Given the description of an element on the screen output the (x, y) to click on. 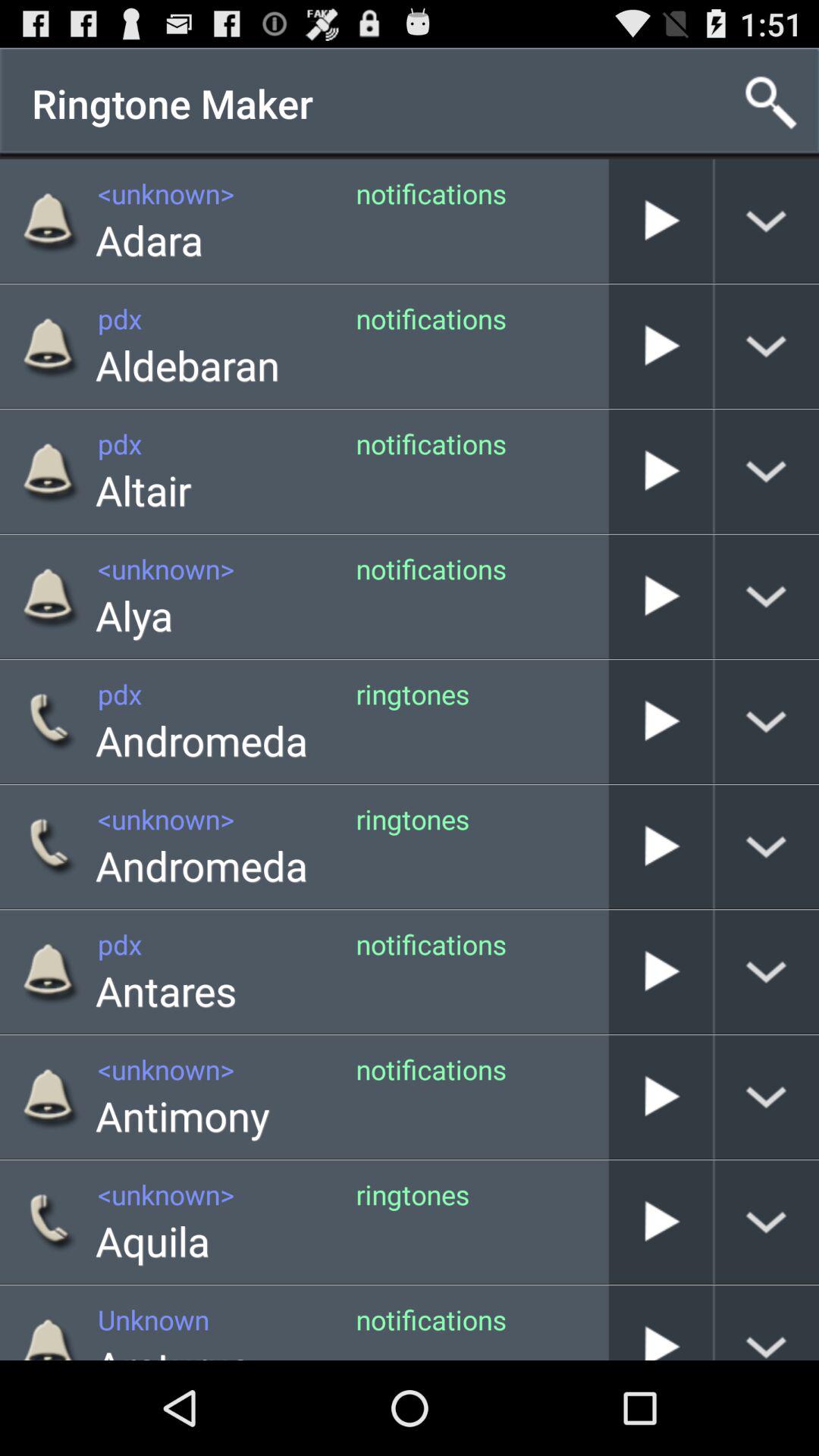
press item next to the notifications app (187, 364)
